Given the description of an element on the screen output the (x, y) to click on. 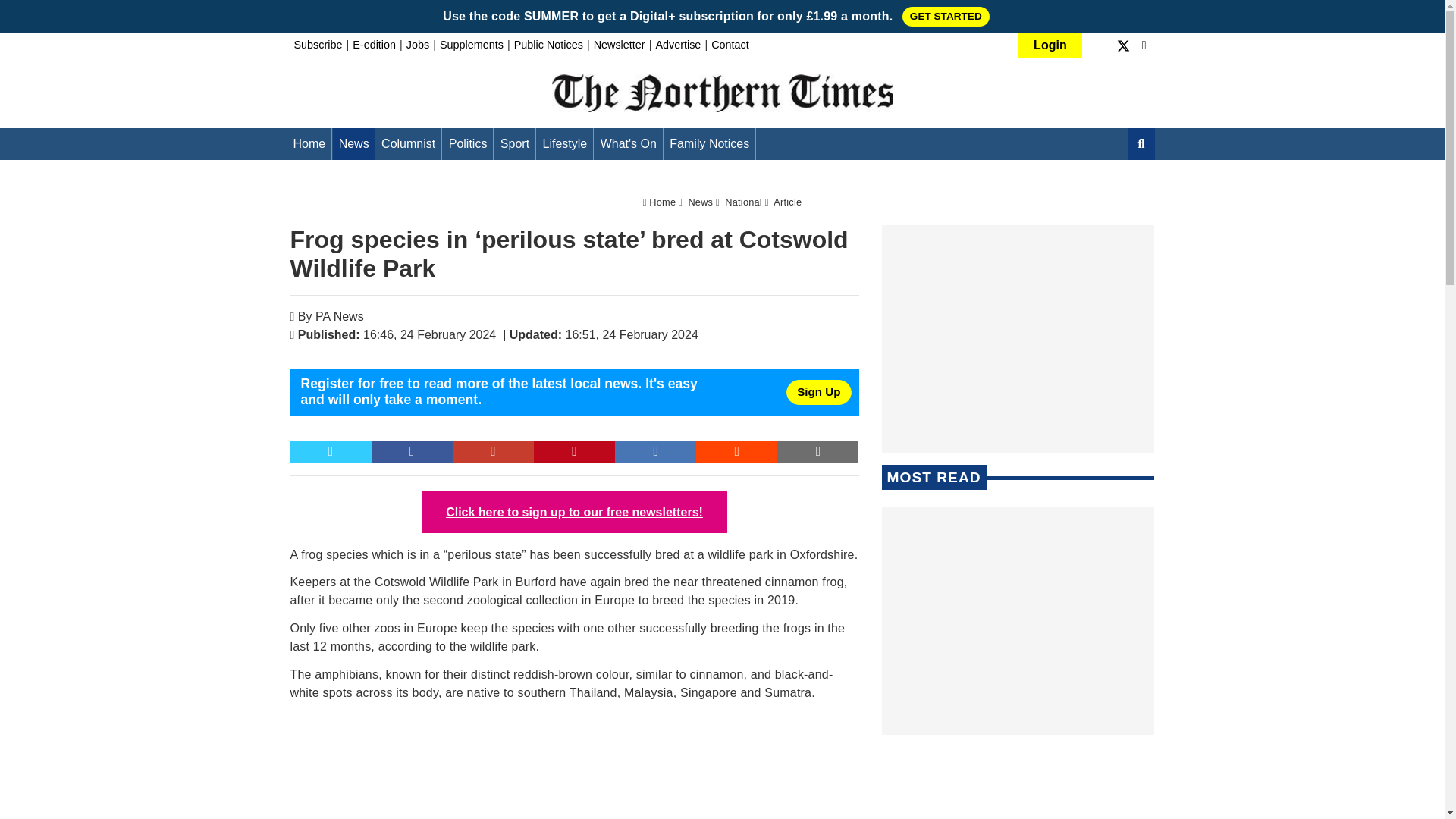
GET STARTED (946, 16)
